Given the description of an element on the screen output the (x, y) to click on. 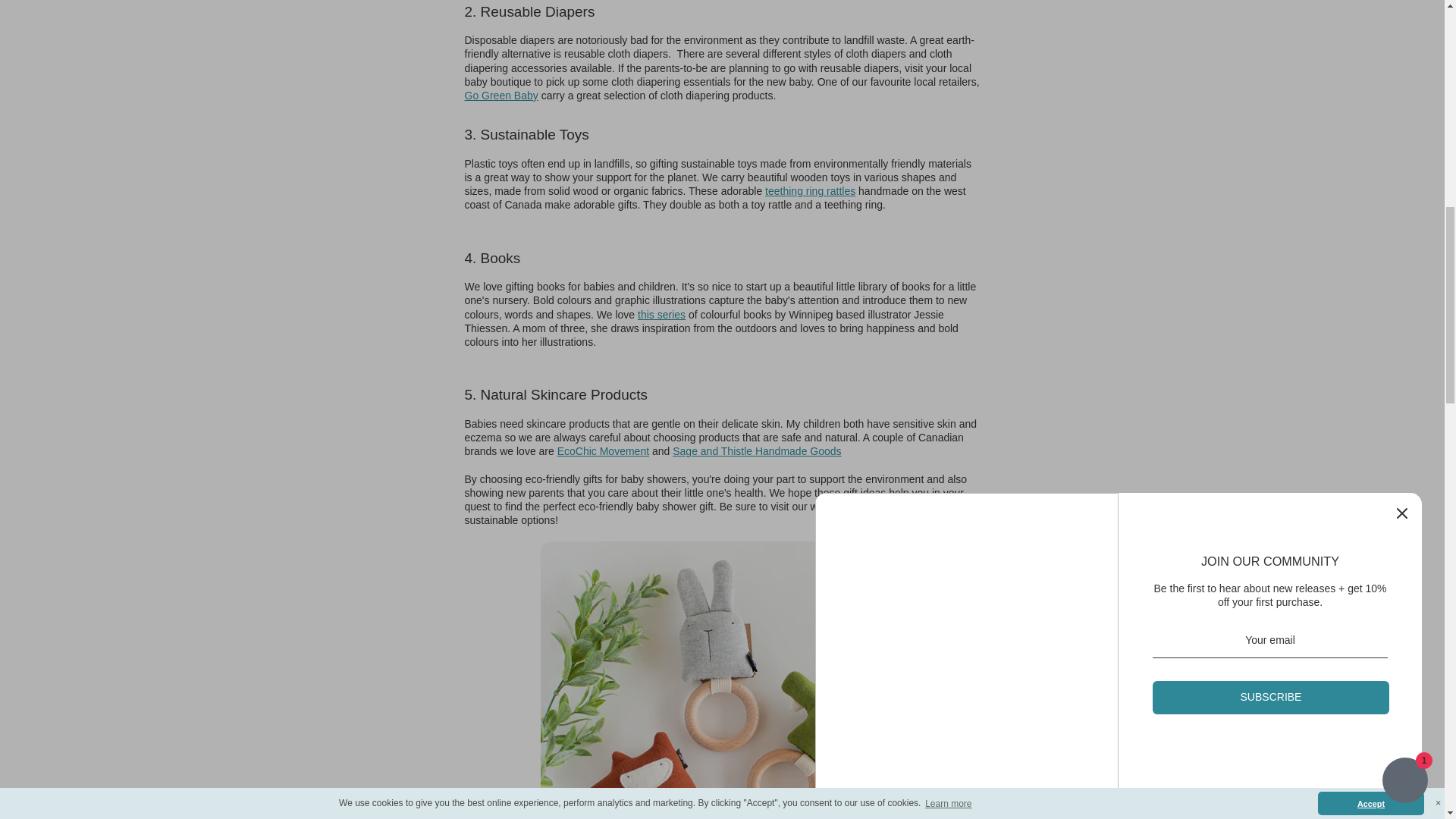
Toys and Books (810, 191)
Eco Chic Movement (603, 451)
Go Green Baby (500, 95)
Shop Toys and Books (661, 313)
Sage and Thistle Handmade Goods (860, 457)
